Given the description of an element on the screen output the (x, y) to click on. 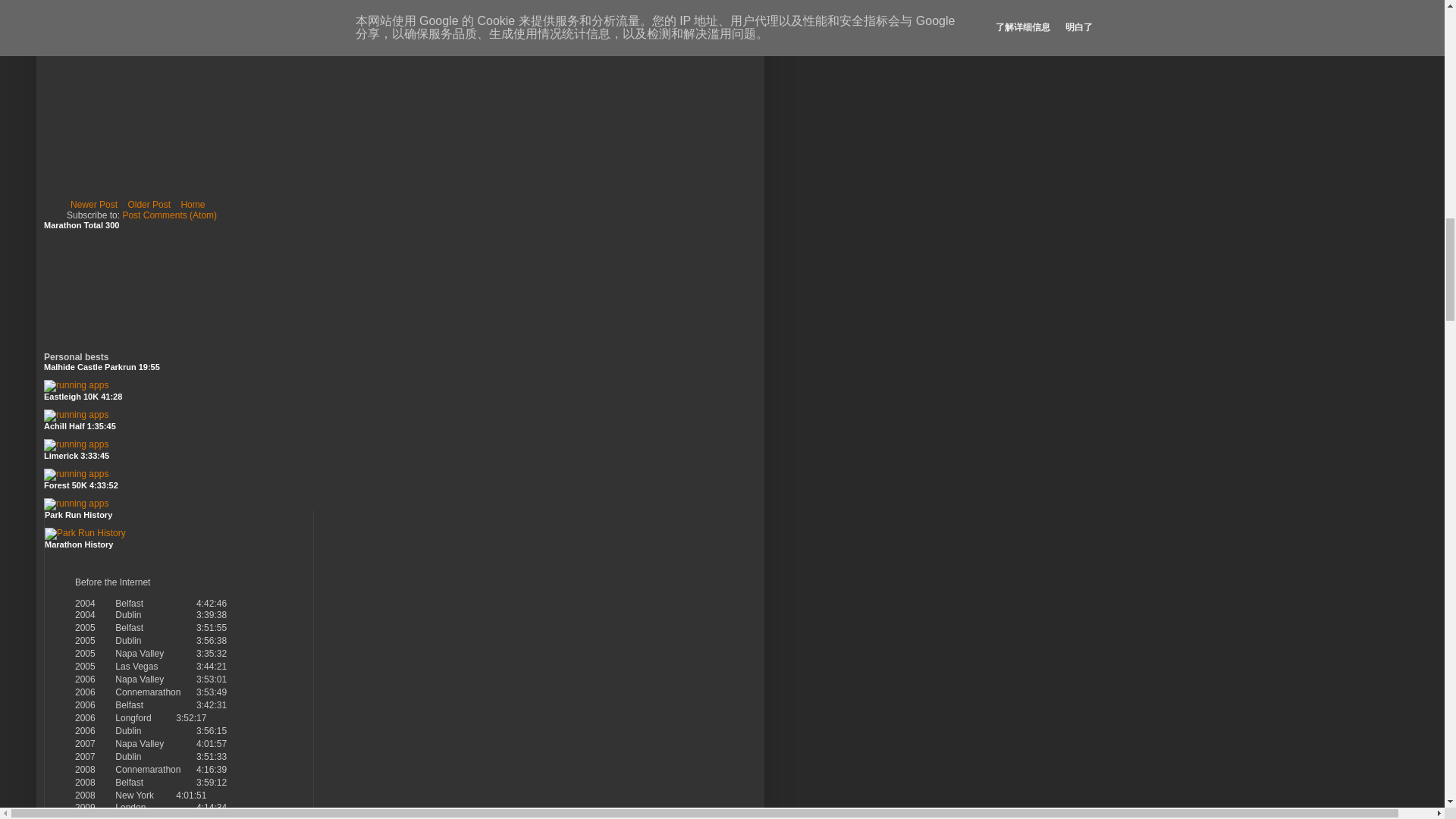
Park Run History (85, 532)
Older Post (148, 204)
Older Post (148, 204)
5K PB Garmin stats (75, 385)
10K PB Garmin stats (75, 414)
Newer Post (93, 204)
Ultra PB Garmin Stats (75, 502)
Half Marathon PB Garmin Stats (75, 443)
Home (192, 204)
Newer Post (93, 204)
Marathon PB Garmin Stats (75, 473)
